Given the description of an element on the screen output the (x, y) to click on. 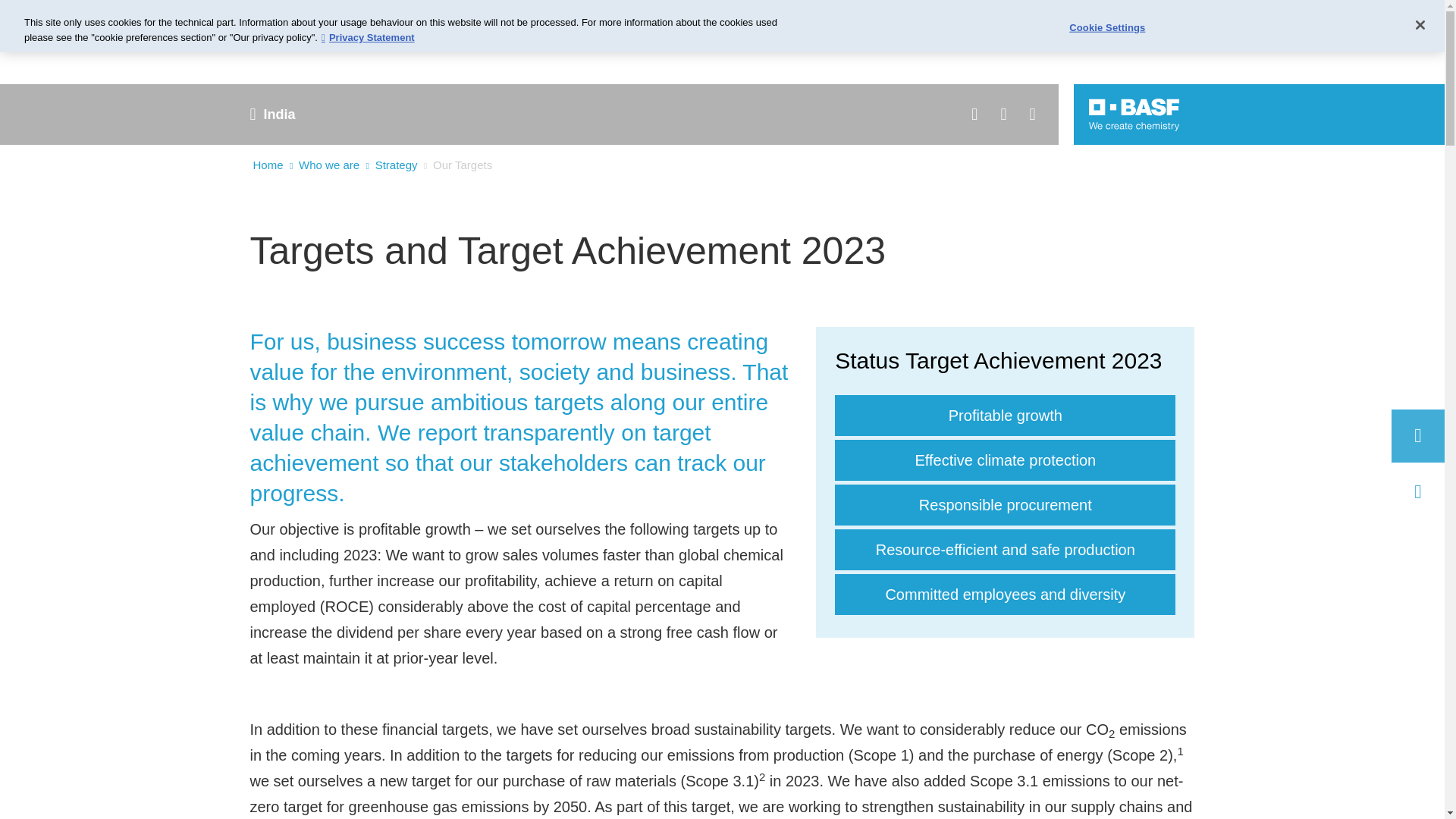
India (277, 114)
